Given the description of an element on the screen output the (x, y) to click on. 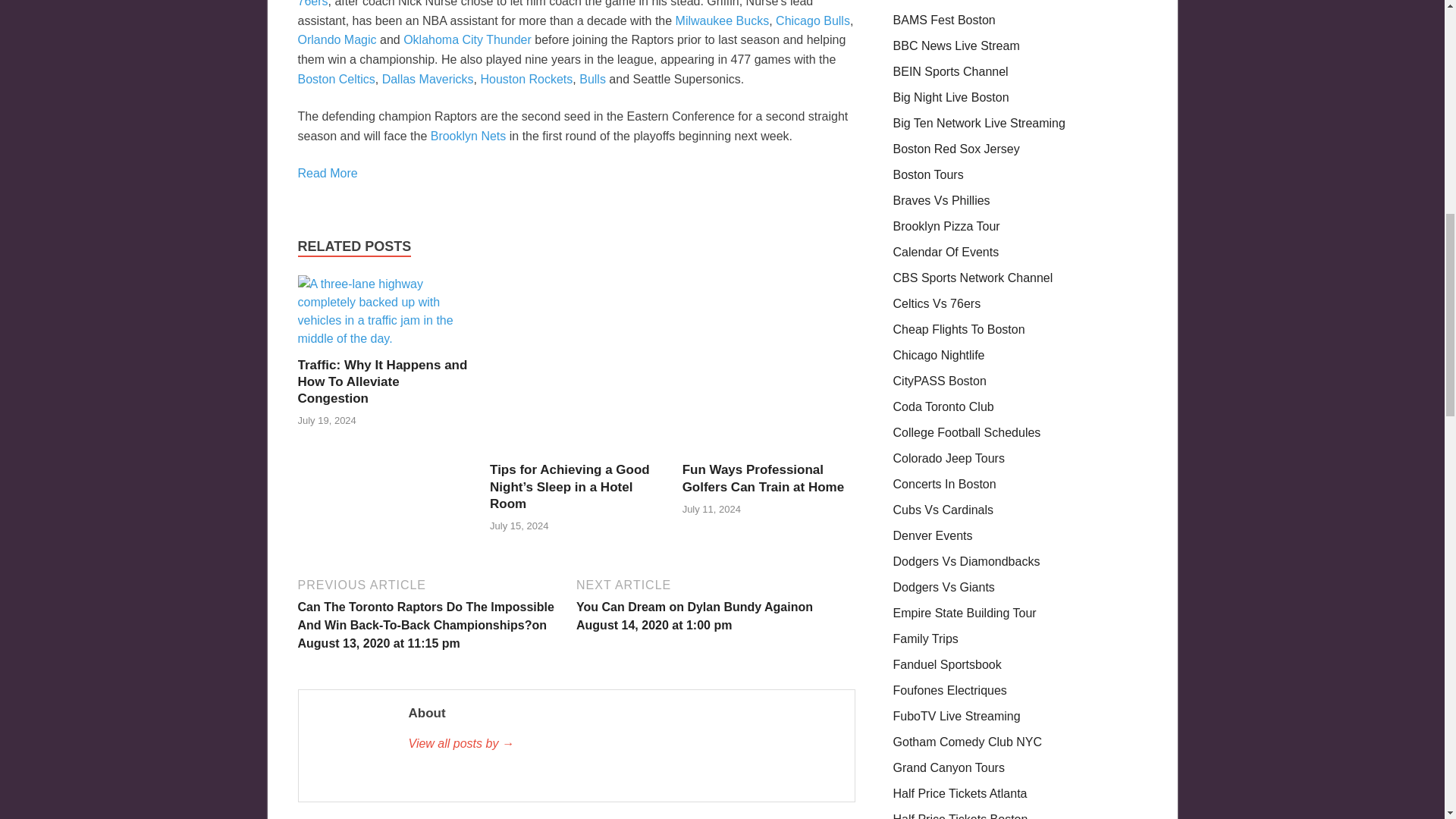
Philadelphia 76ers (559, 4)
Fun Ways Professional Golfers Can Train at Home (769, 451)
Milwaukee Bucks (722, 20)
Orlando Magic (336, 39)
Fun Ways Professional Golfers Can Train at Home (763, 477)
Traffic: Why It Happens and How To Alleviate Congestion (382, 381)
Oklahoma City Thunder (467, 39)
Traffic: Why It Happens and How To Alleviate Congestion (383, 338)
Chicago Bulls (813, 20)
